Given the description of an element on the screen output the (x, y) to click on. 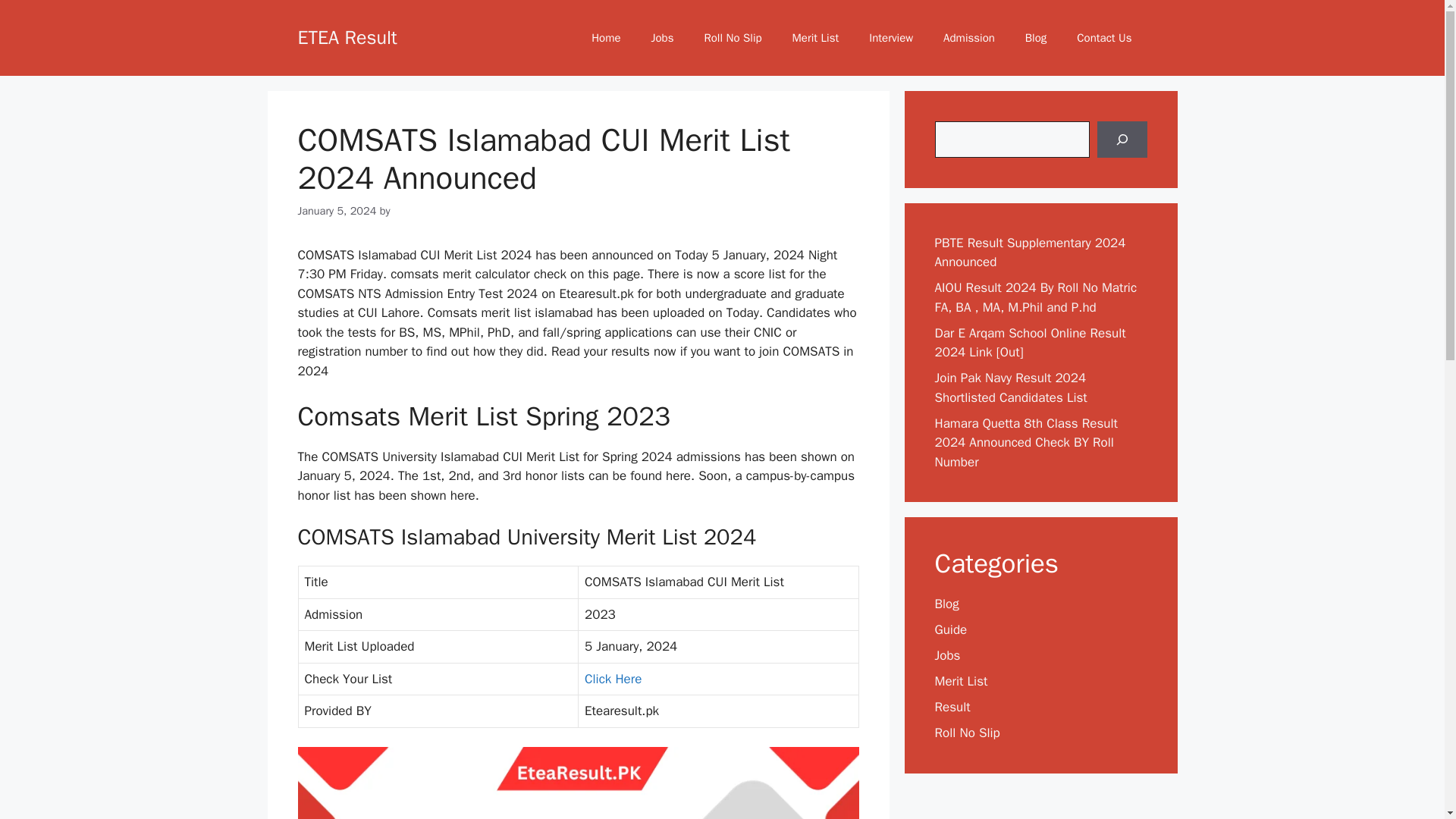
Interview (890, 37)
Click Here (613, 678)
Result (951, 706)
Jobs (946, 655)
Join Pak Navy Result 2024 Shortlisted Candidates List (1010, 387)
Merit List (960, 681)
Blog (1035, 37)
Roll No Slip (966, 732)
Merit List (815, 37)
